Given the description of an element on the screen output the (x, y) to click on. 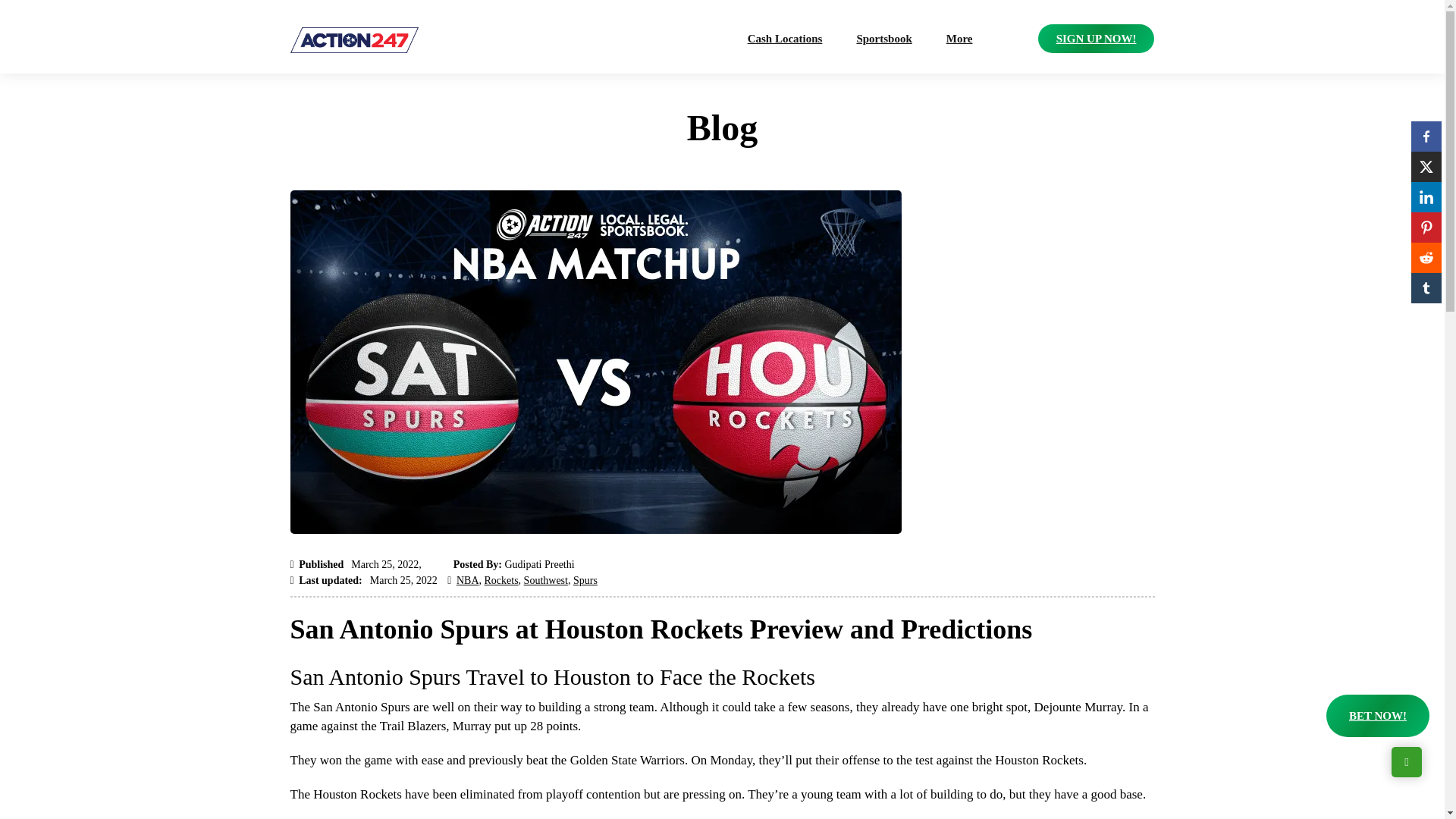
Pinterest (1425, 227)
Reddit (1425, 257)
Linkedin (1425, 196)
Facebook (1425, 136)
Rockets (500, 580)
Sportsbook (883, 38)
NBA (468, 580)
Southwest (545, 580)
More (959, 38)
Tumblr (1425, 287)
